Given the description of an element on the screen output the (x, y) to click on. 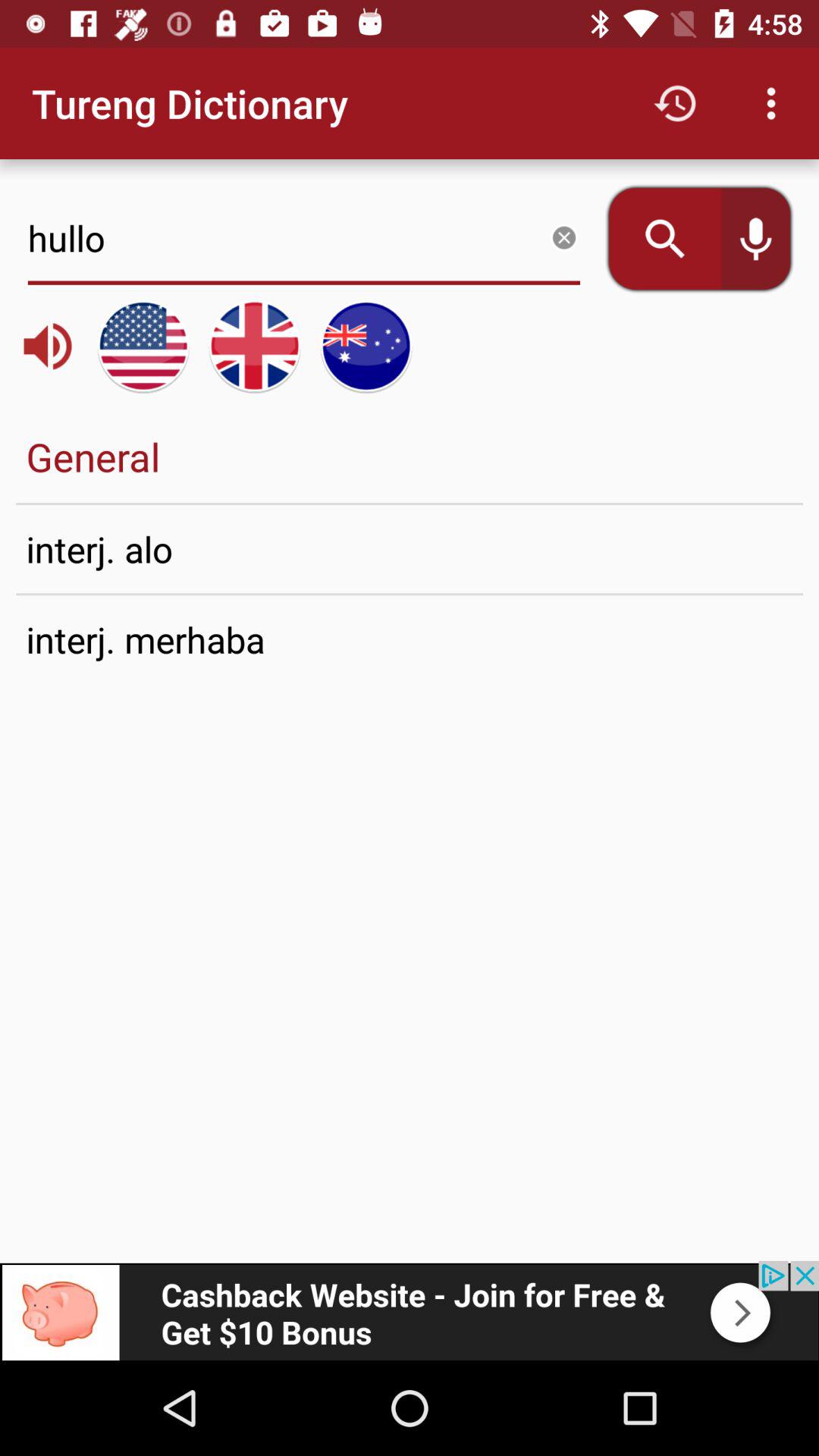
advartasmand (409, 1310)
